Given the description of an element on the screen output the (x, y) to click on. 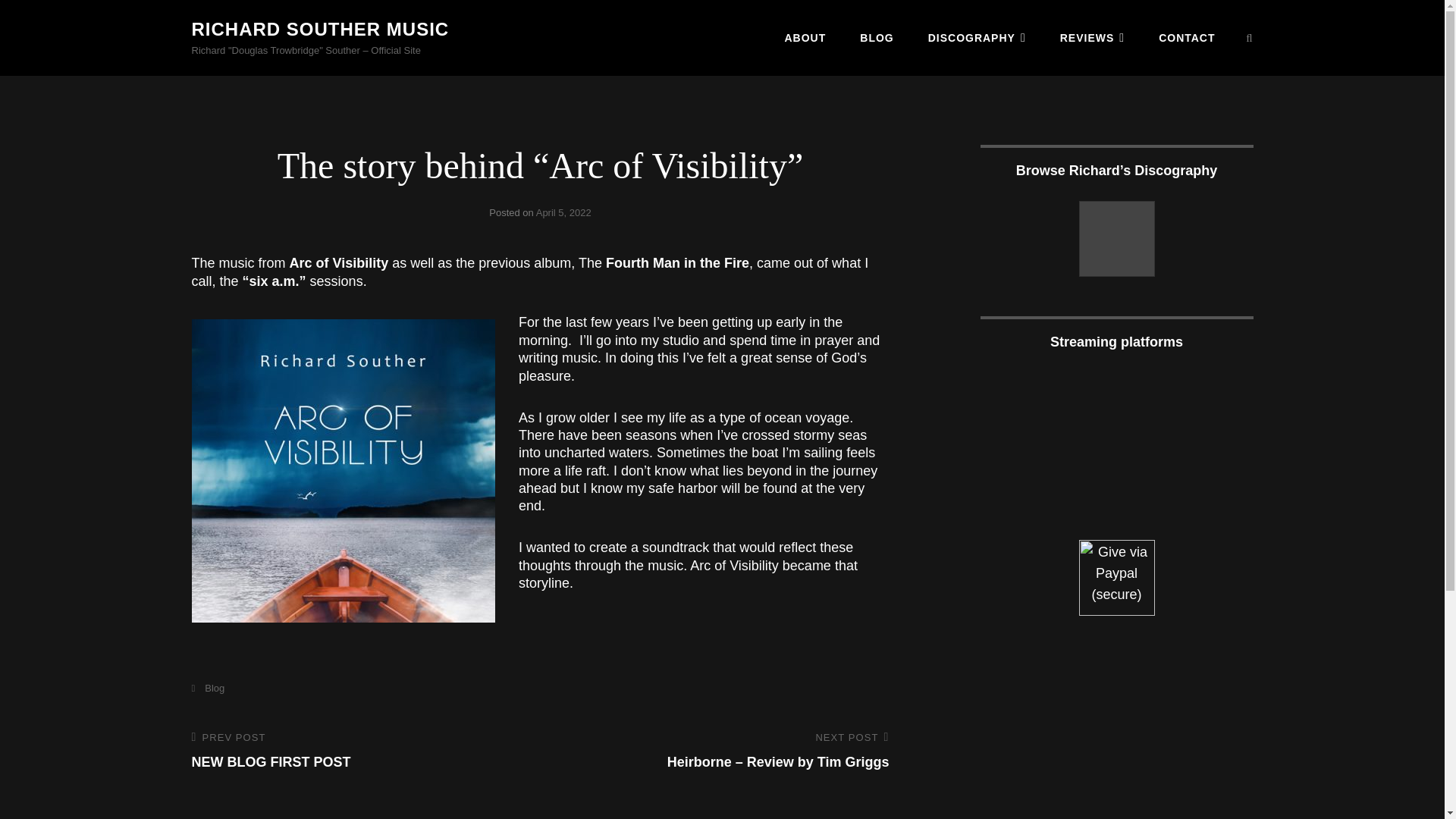
BLOG (876, 37)
RICHARD SOUTHER MUSIC (357, 751)
CONTACT (319, 28)
Blog (1186, 37)
ABOUT (207, 687)
SEARCH (805, 37)
REVIEWS (1249, 37)
April 5, 2022 (1092, 37)
DISCOGRAPHY (563, 212)
